Given the description of an element on the screen output the (x, y) to click on. 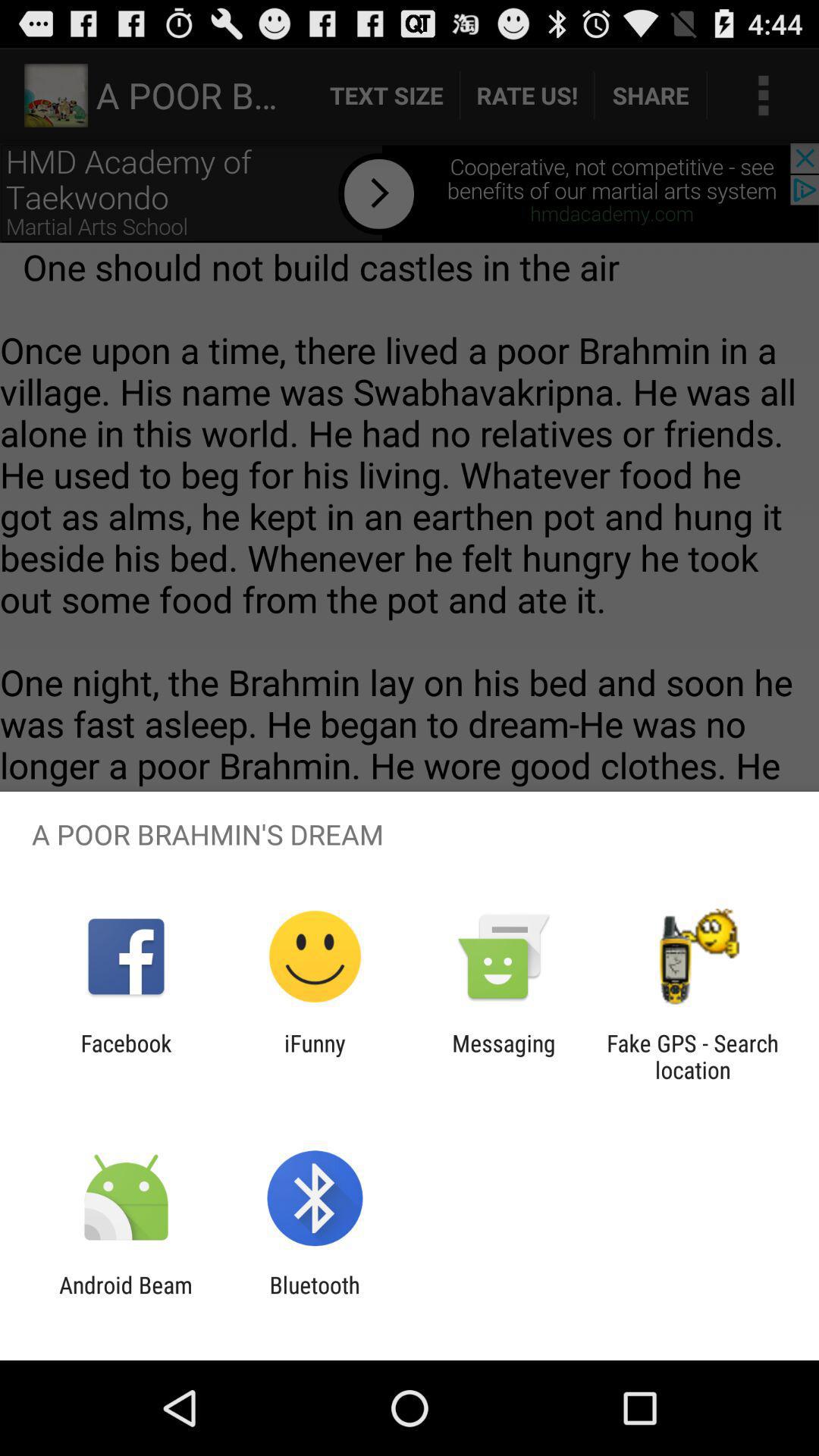
tap ifunny app (314, 1056)
